Given the description of an element on the screen output the (x, y) to click on. 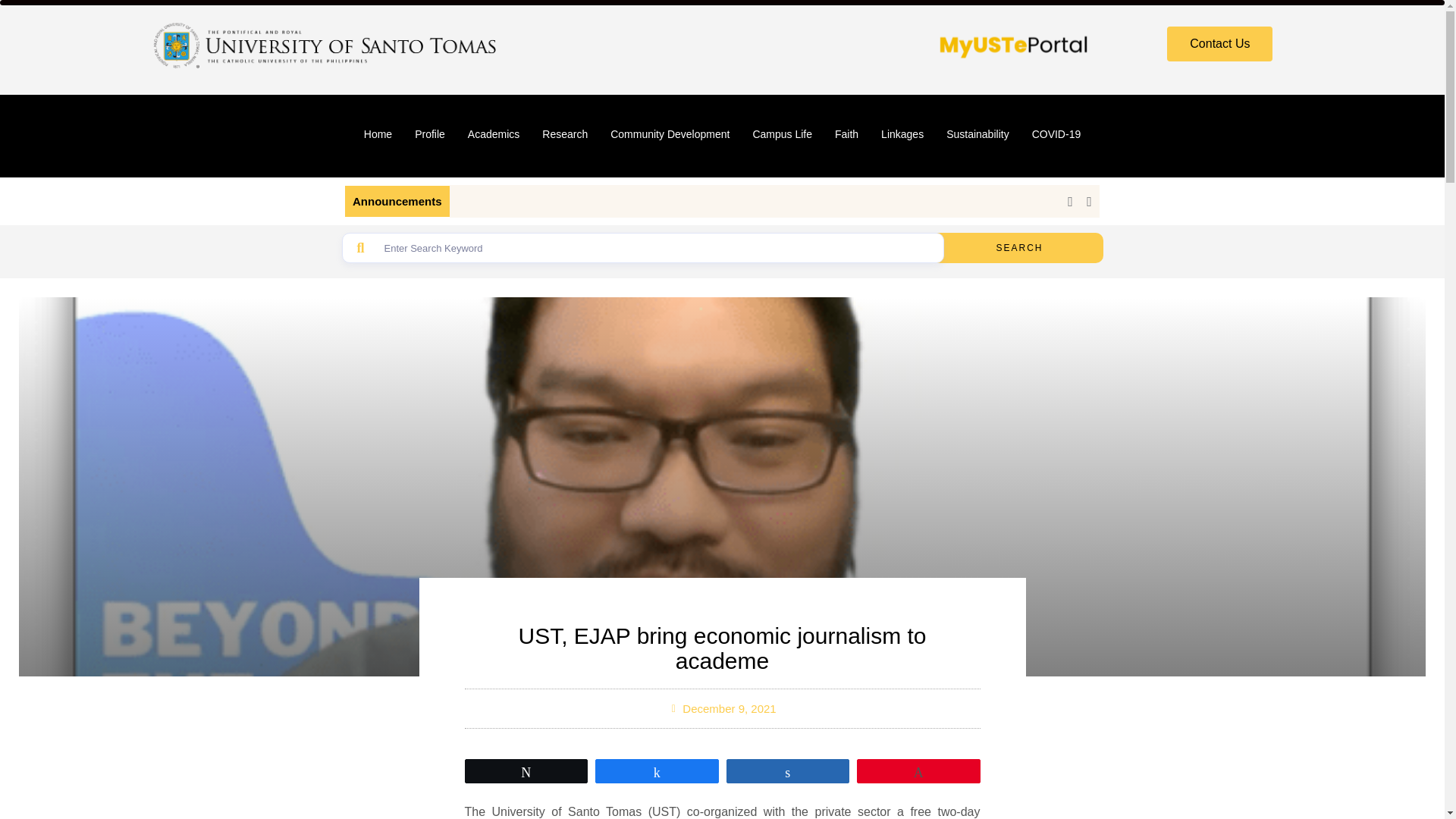
Linkages (901, 133)
Academics (494, 133)
Campus Life (782, 133)
SEARCH (1019, 247)
COVID-19 (1056, 133)
December 9, 2021 (722, 708)
Profile (430, 133)
Community Development (669, 133)
Contact Us (1219, 43)
Research (564, 133)
